Given the description of an element on the screen output the (x, y) to click on. 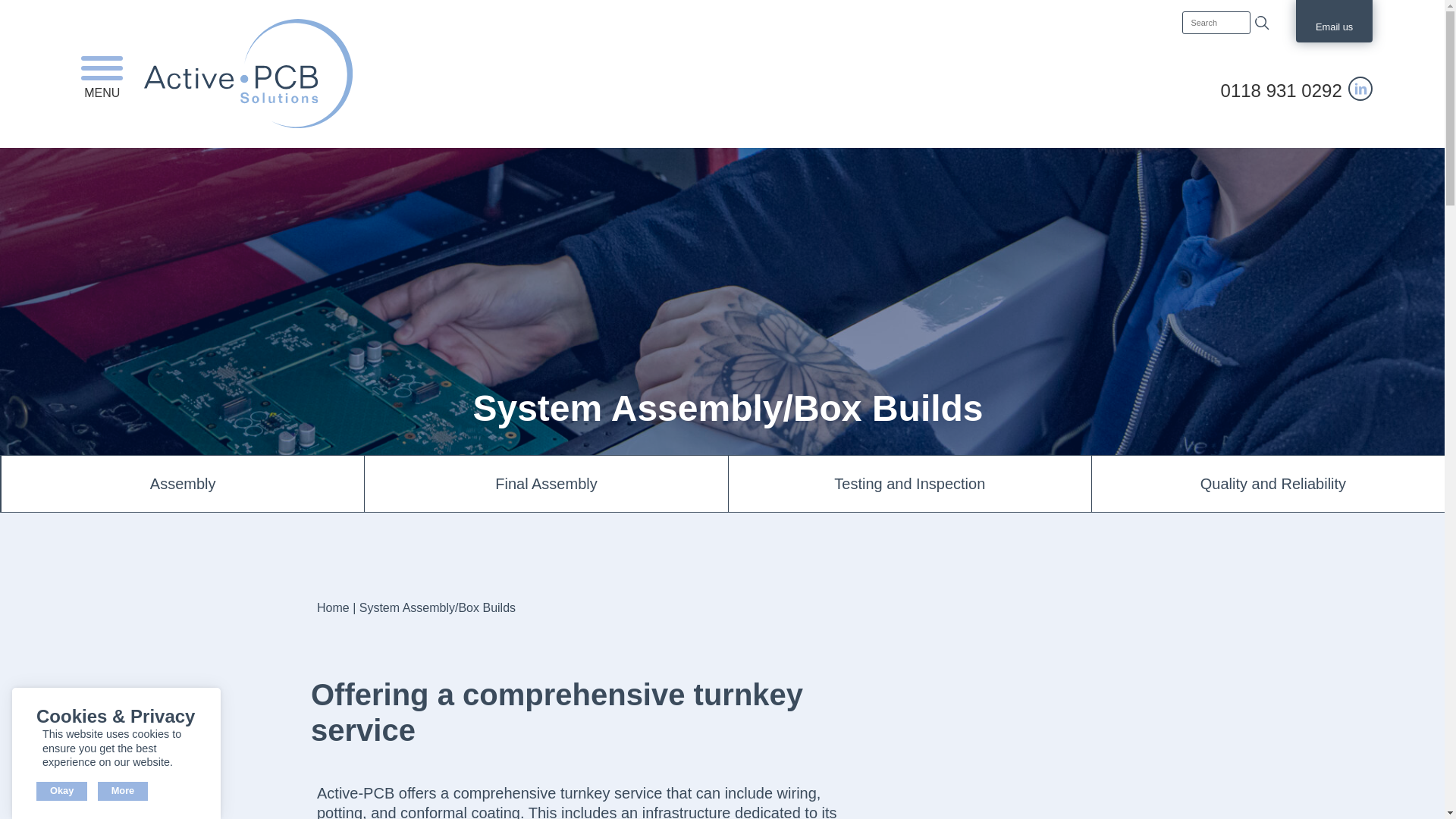
Testing and Inspection (909, 483)
Assembly (182, 483)
Quality and Reliability (1273, 483)
Home (333, 607)
Email us (1333, 17)
Final Assembly (545, 483)
